Given the description of an element on the screen output the (x, y) to click on. 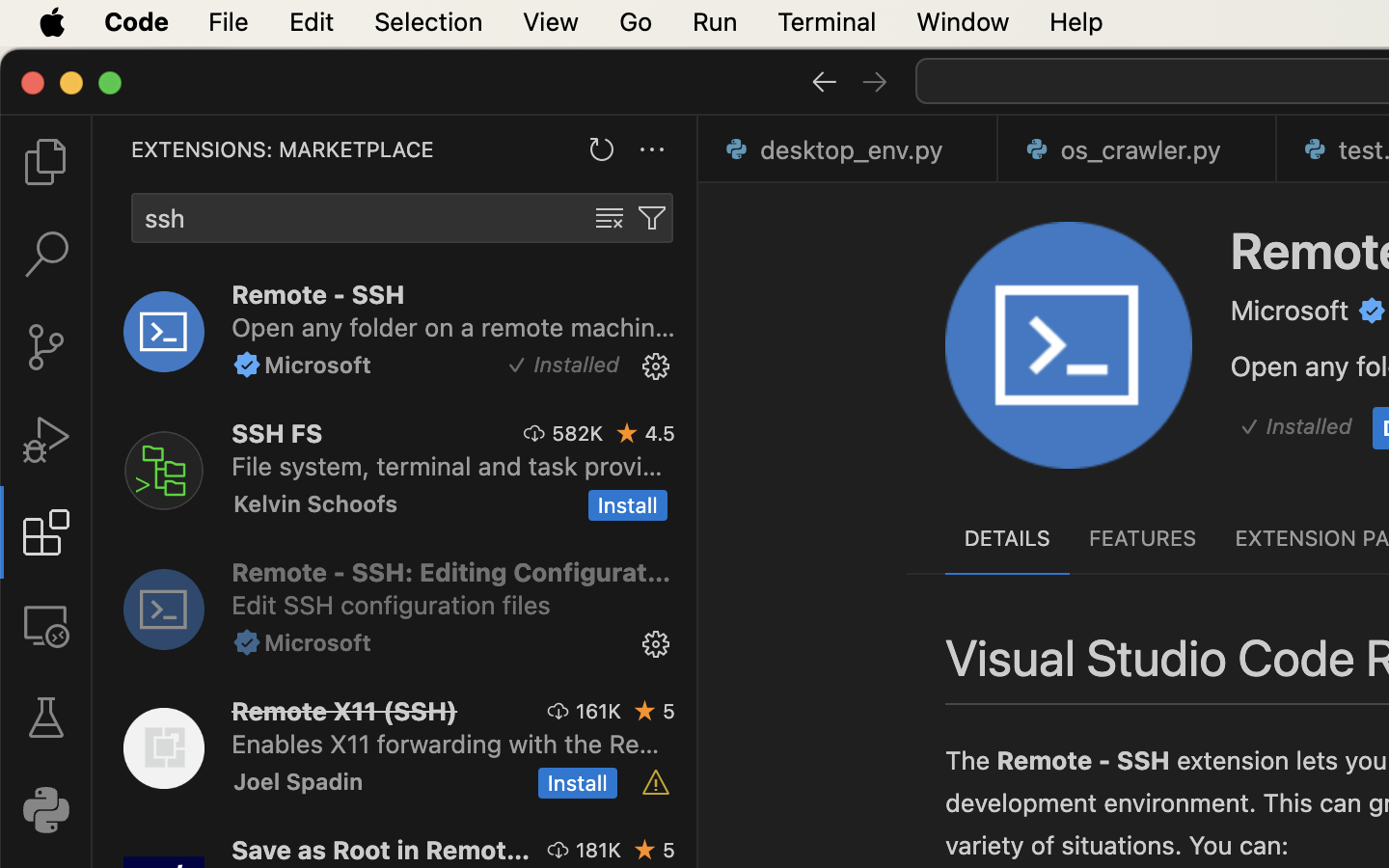
Edit SSH configuration files Element type: AXStaticText (391, 604)
Open any folder on a remote machine using SSH and take advantage of VS Code's full feature set. Element type: AXStaticText (453, 326)
161K Element type: AXStaticText (597, 710)
0 desktop_env.py   Element type: AXRadioButton (848, 149)
0 Element type: AXRadioButton (46, 624)
